Given the description of an element on the screen output the (x, y) to click on. 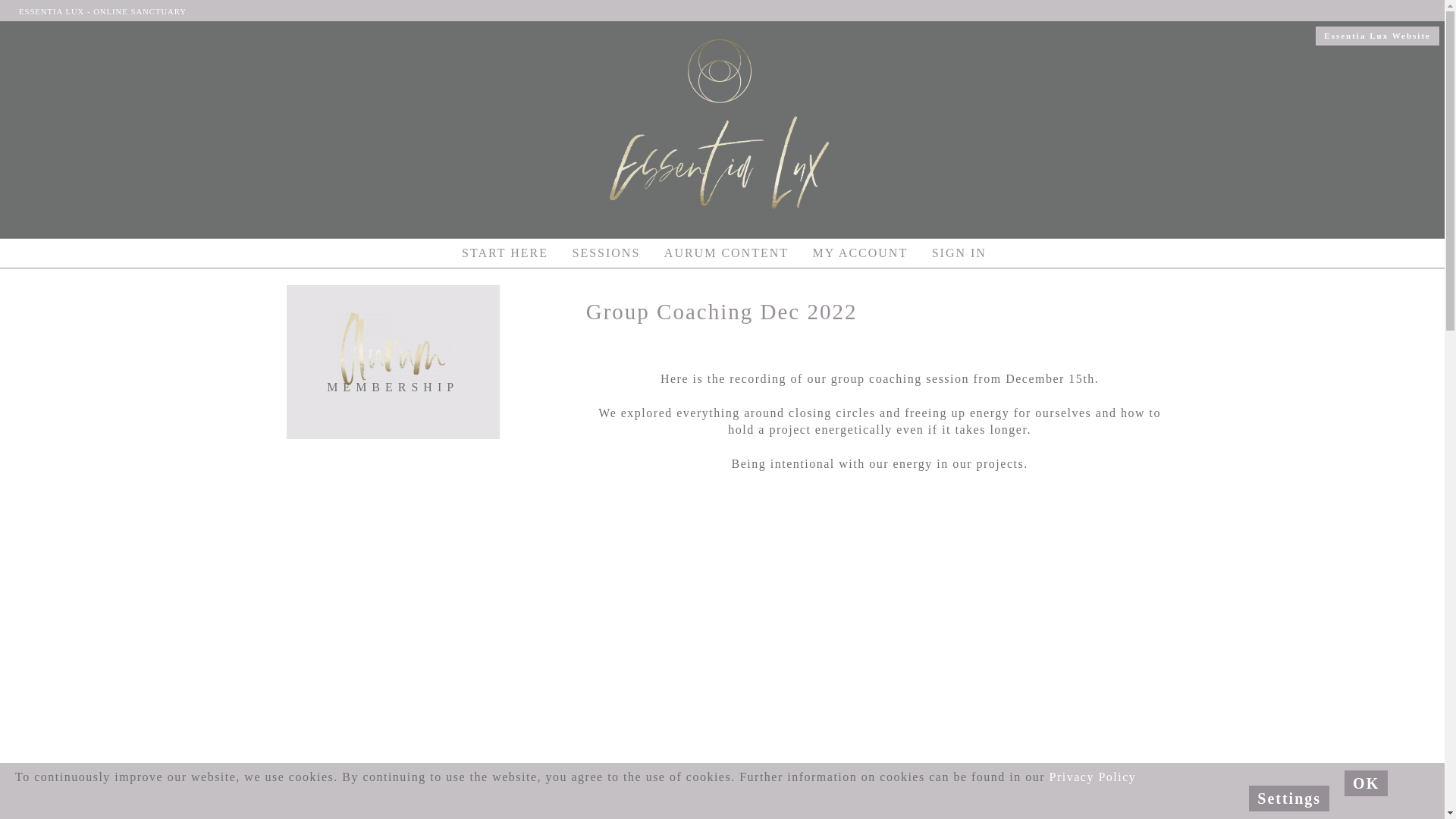
AURUM CONTENT (726, 252)
Privacy Policy (1093, 776)
Essentia Lux Website (1377, 33)
START HERE (504, 252)
SESSIONS (606, 252)
MY ACCOUNT (860, 252)
SIGN IN (959, 252)
